Given the description of an element on the screen output the (x, y) to click on. 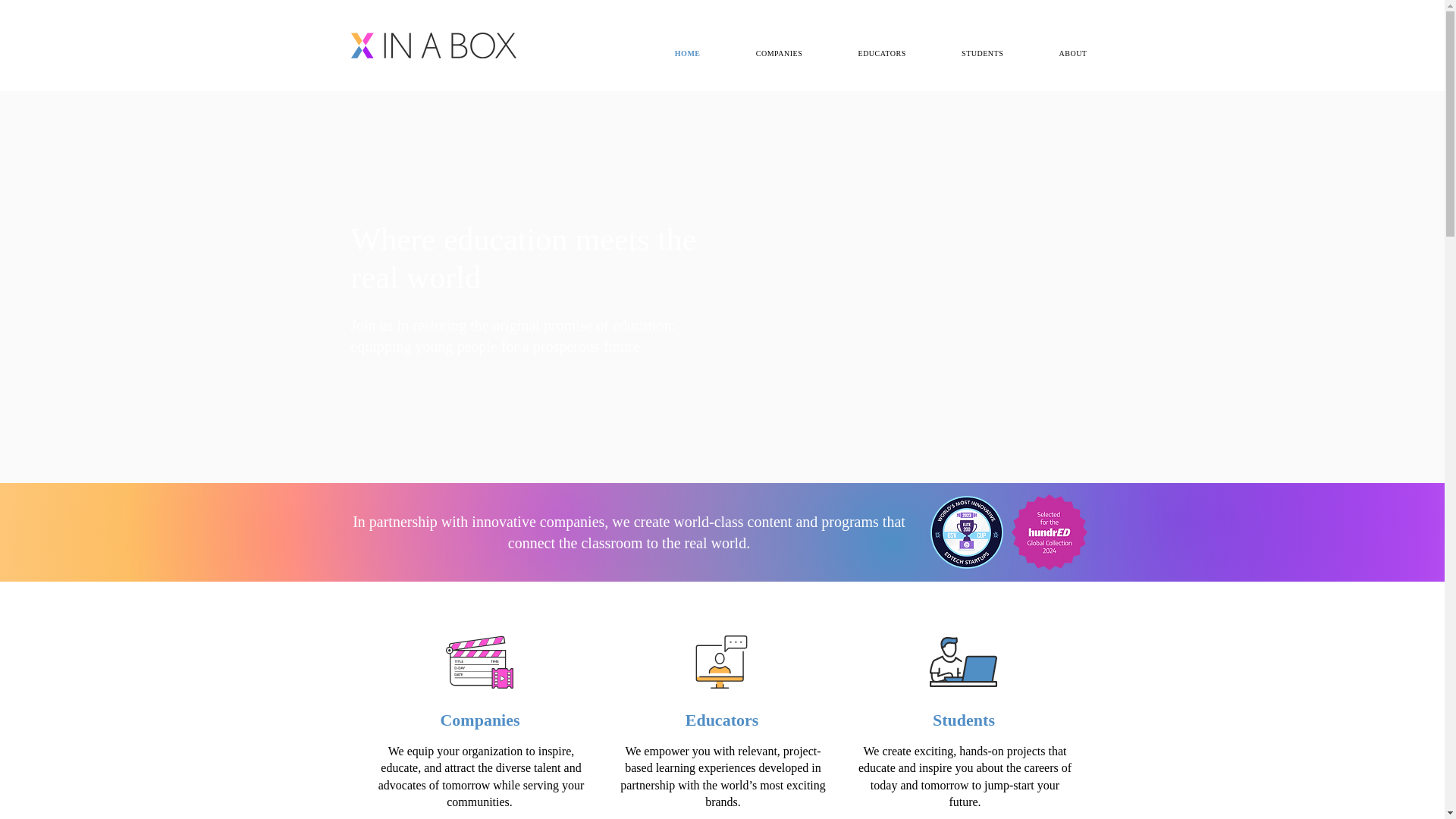
HOME (668, 53)
COMPANIES (861, 53)
